Given the description of an element on the screen output the (x, y) to click on. 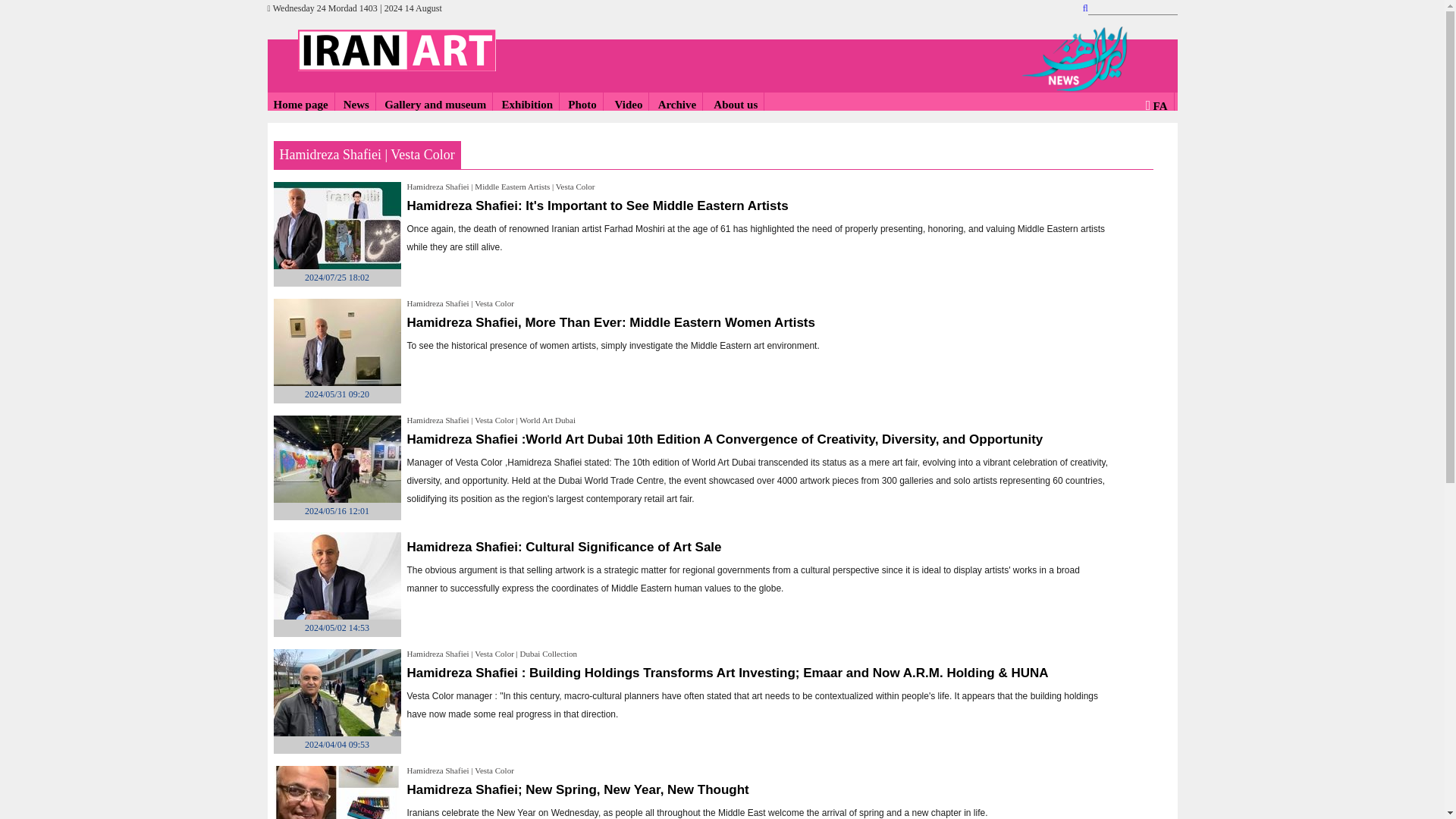
Photo (581, 104)
Archive (677, 104)
 Video (626, 104)
Exhibition (527, 104)
 About us (734, 104)
Hamidreza Shafiei; New Spring, New Year, New Thought (577, 789)
News (356, 104)
